Given the description of an element on the screen output the (x, y) to click on. 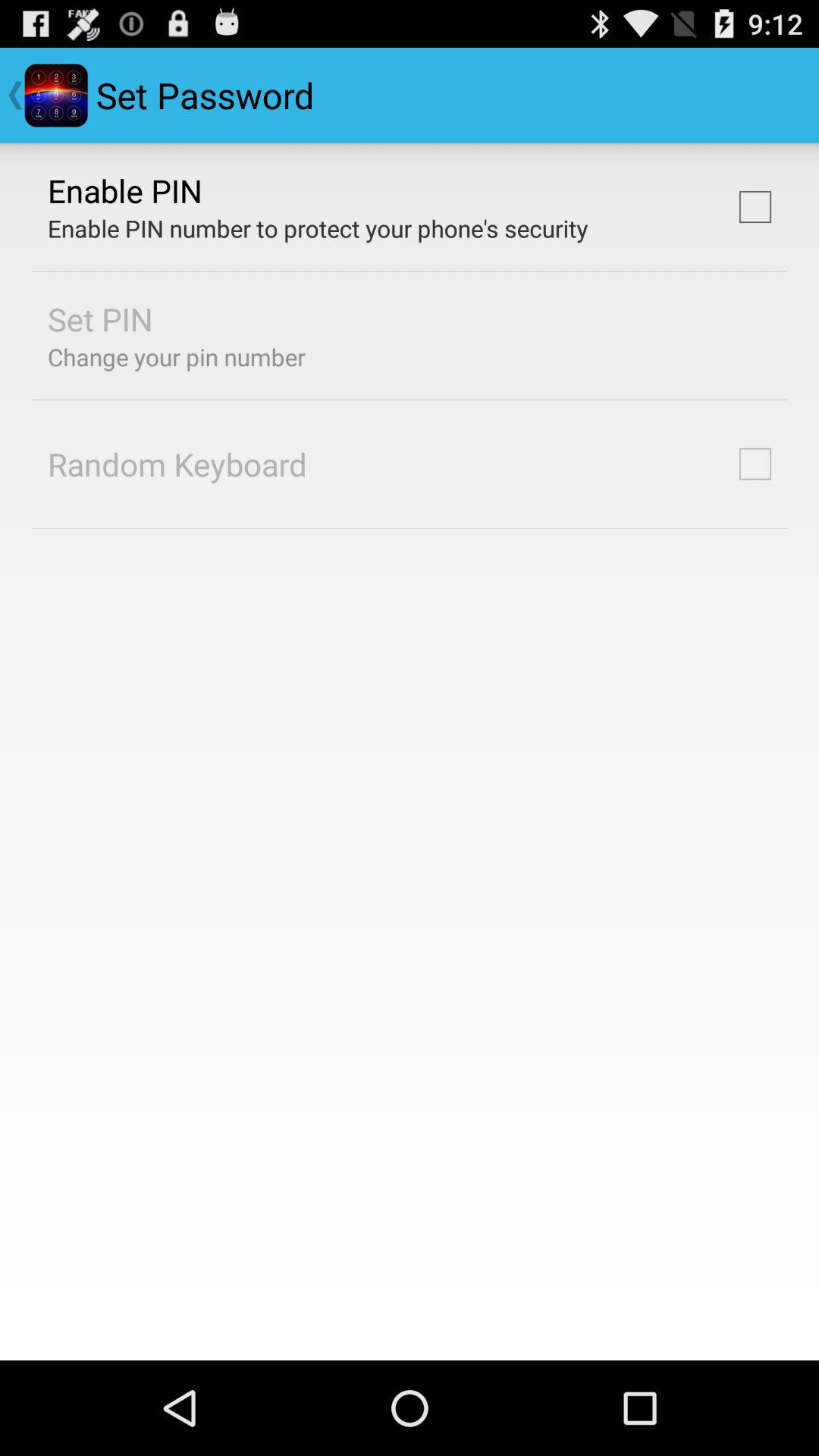
launch app below the enable pin number item (99, 318)
